Given the description of an element on the screen output the (x, y) to click on. 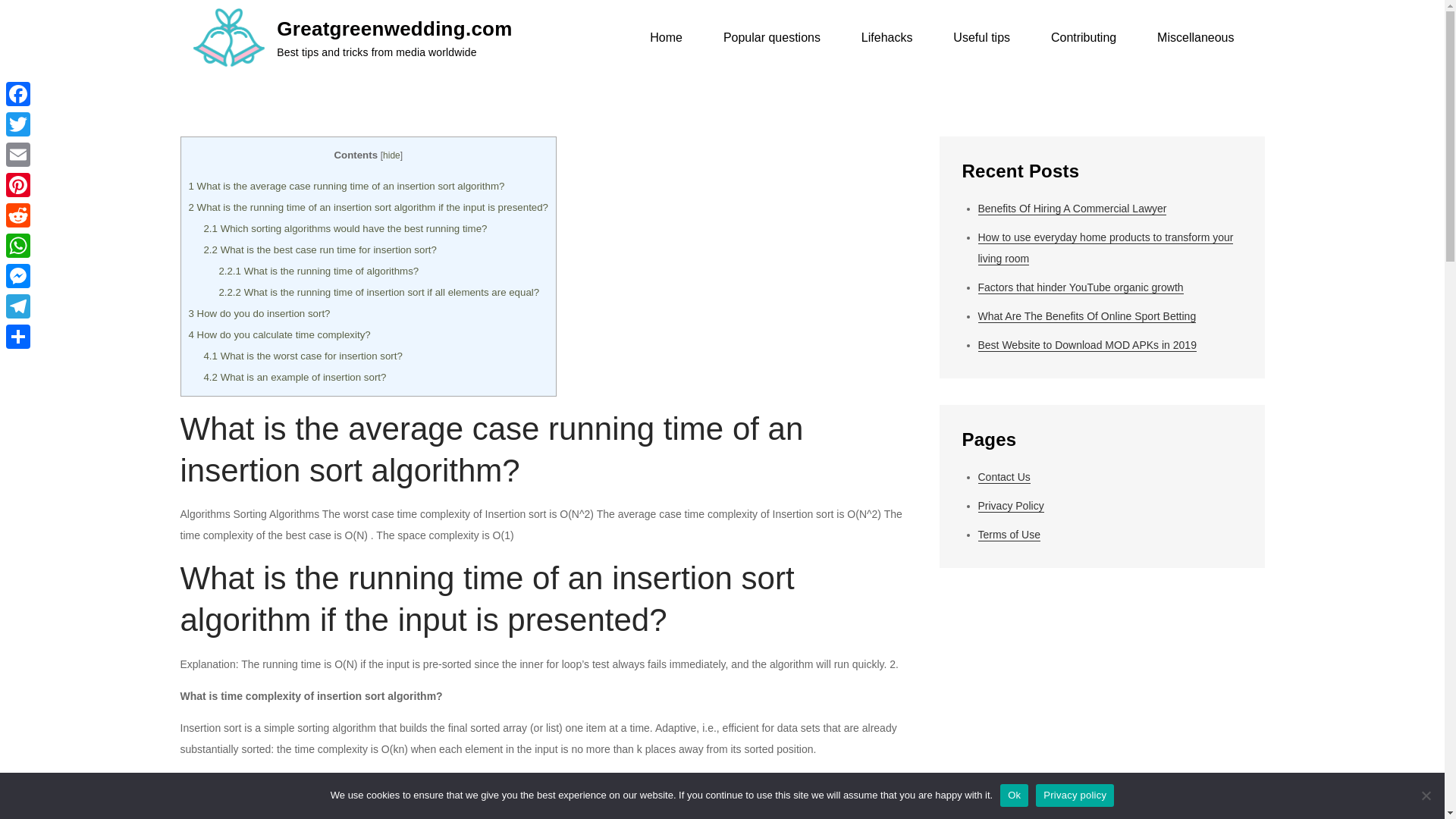
Best Website to Download MOD APKs in 2019 (1087, 345)
Factors that hinder YouTube organic growth (1080, 287)
hide (391, 154)
2.2.1 What is the running time of algorithms? (318, 270)
Home (665, 38)
Lifehacks (887, 38)
Messenger (17, 276)
What Are The Benefits Of Online Sport Betting (1087, 316)
2.2 What is the best case run time for insertion sort? (319, 249)
Reddit (17, 214)
Benefits Of Hiring A Commercial Lawyer (1072, 208)
3 How do you do insertion sort? (258, 313)
